Given the description of an element on the screen output the (x, y) to click on. 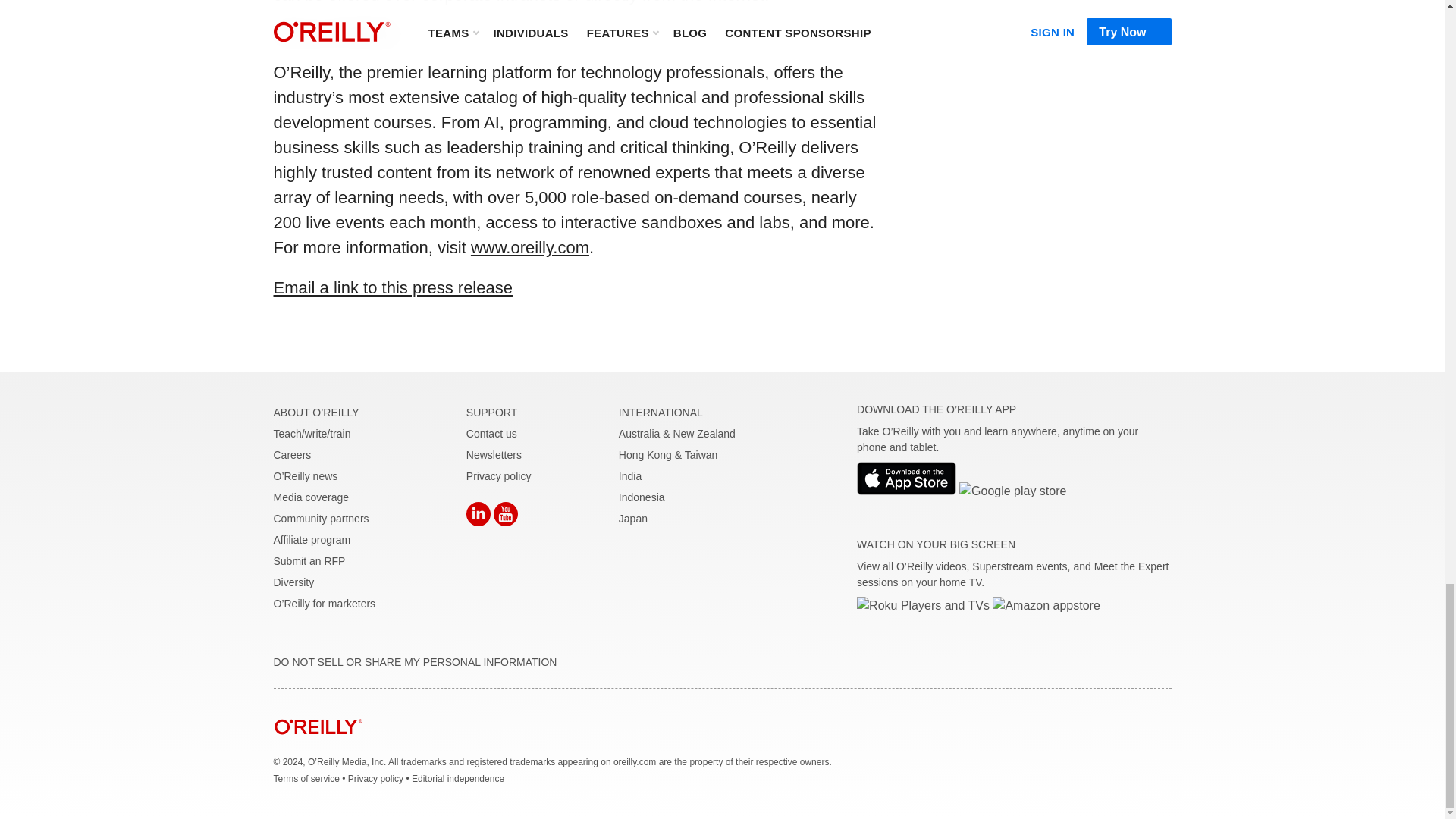
home page (317, 745)
www.oreilly.com (529, 247)
Careers (292, 454)
Email a link to this press release (392, 287)
Affiliate program (311, 539)
Submit an RFP (309, 561)
Community partners (320, 518)
Media coverage (311, 497)
